Given the description of an element on the screen output the (x, y) to click on. 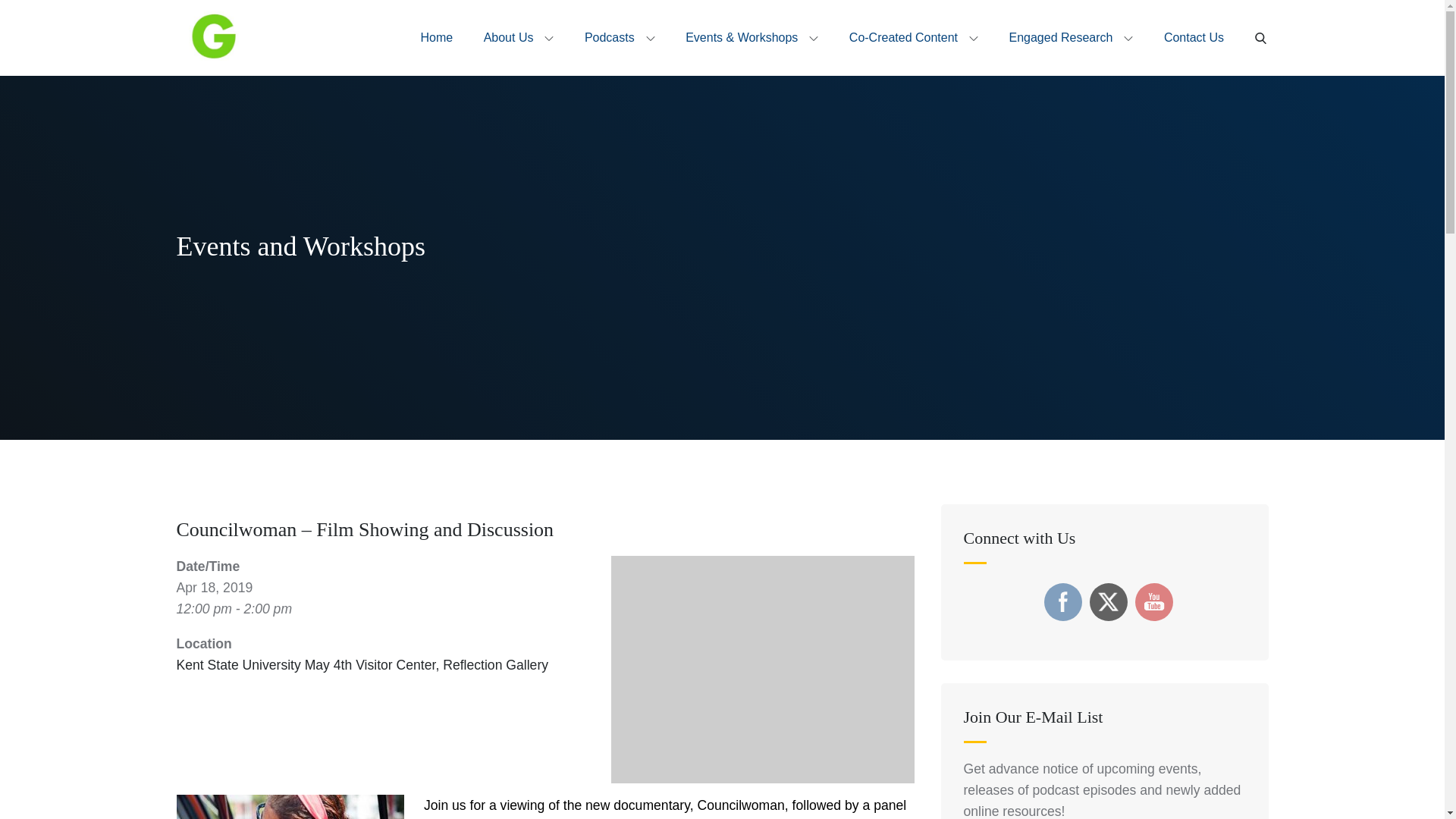
Twitter (1108, 601)
Podcasts (619, 38)
GROWING DEMOCRACY (271, 68)
Facebook (1063, 601)
Engaged Research (1070, 38)
YouTube (1153, 601)
Co-Created Content (913, 38)
About Us (518, 38)
